Given the description of an element on the screen output the (x, y) to click on. 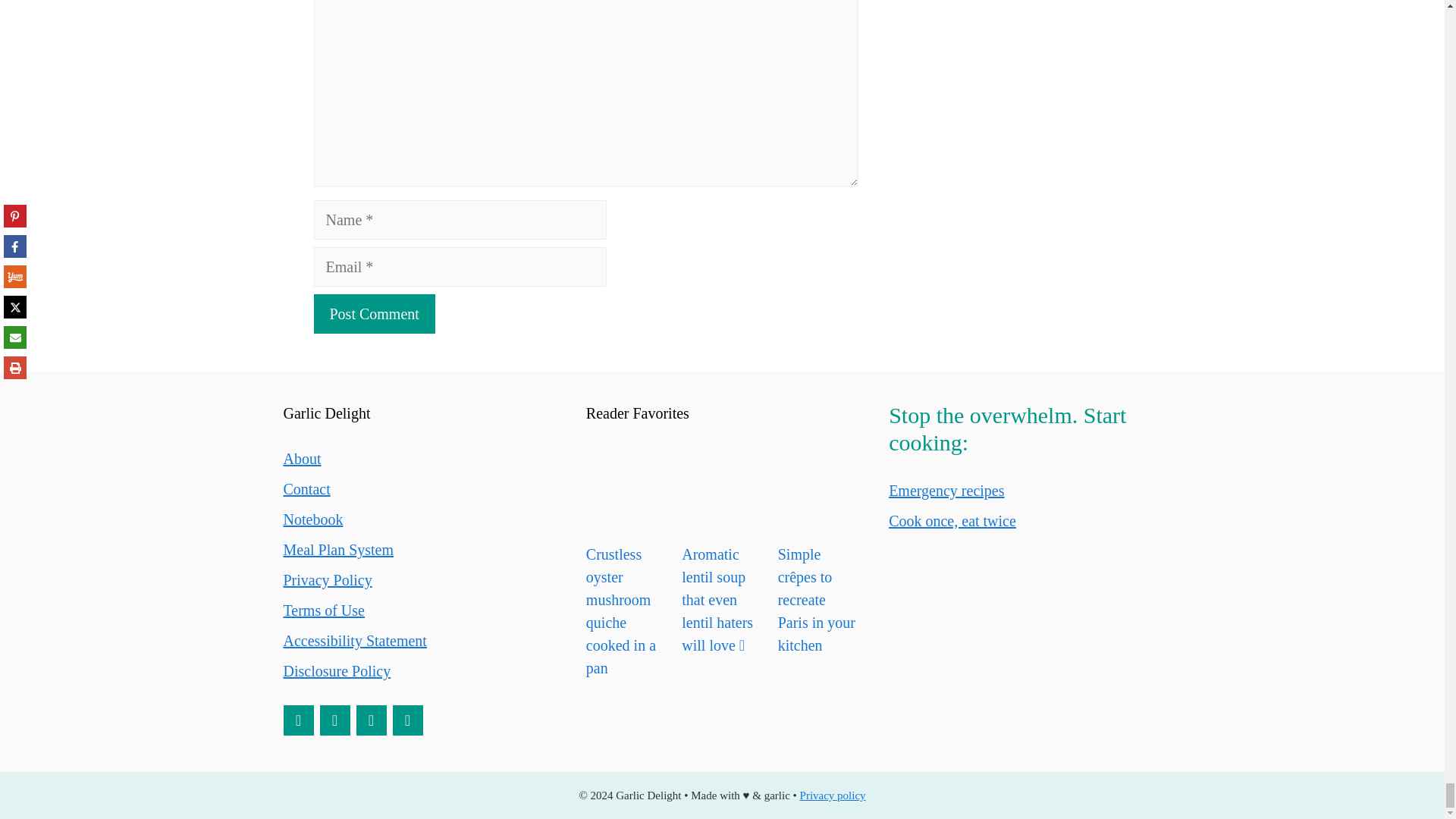
Crustless oyster mushroom quiche cooked in a pan (626, 487)
Facebook (335, 720)
Twitter (408, 720)
Post Comment (374, 313)
Pinterest (298, 720)
Instagram (371, 720)
